Given the description of an element on the screen output the (x, y) to click on. 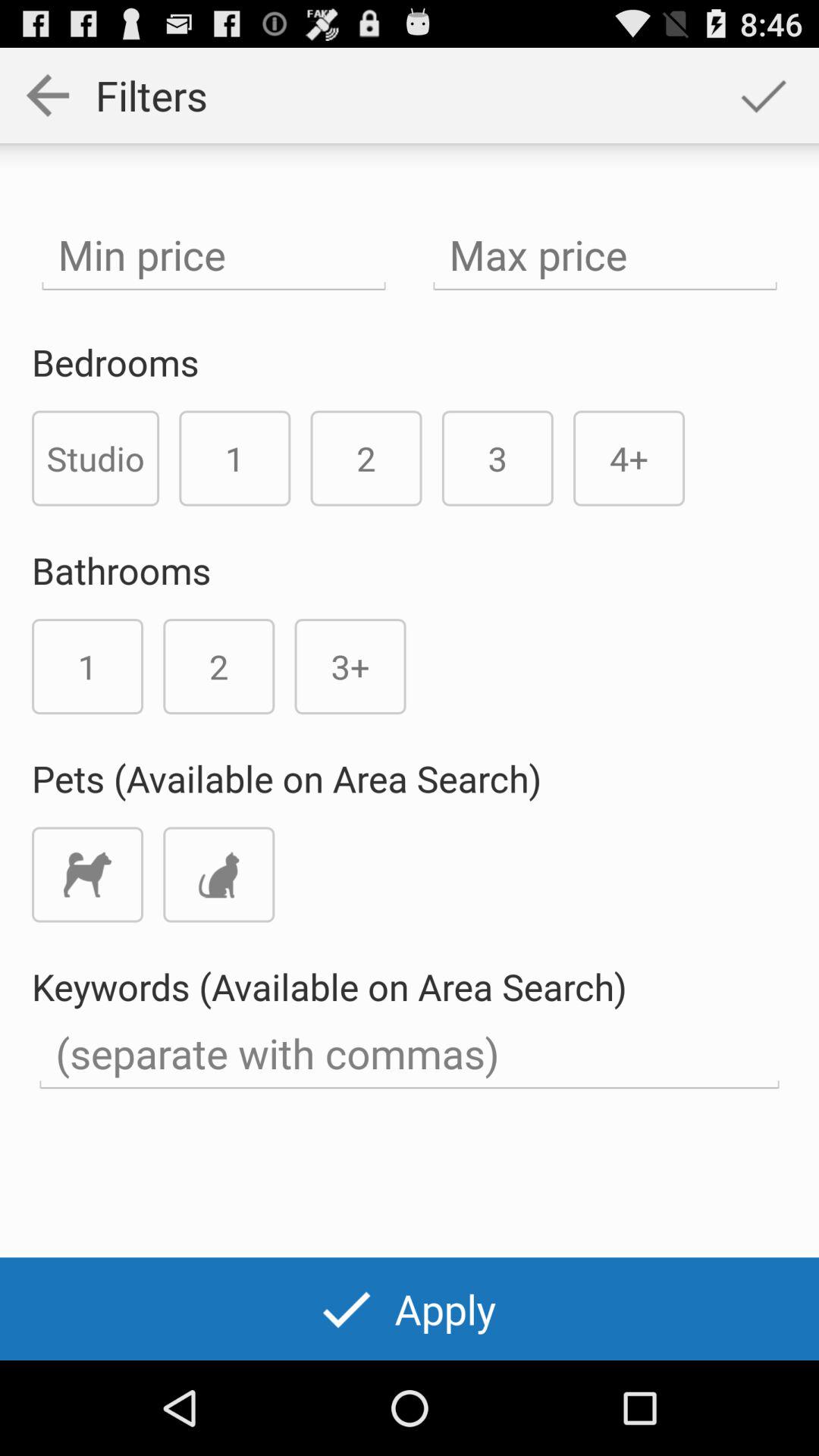
open app above keywords available on (218, 874)
